Given the description of an element on the screen output the (x, y) to click on. 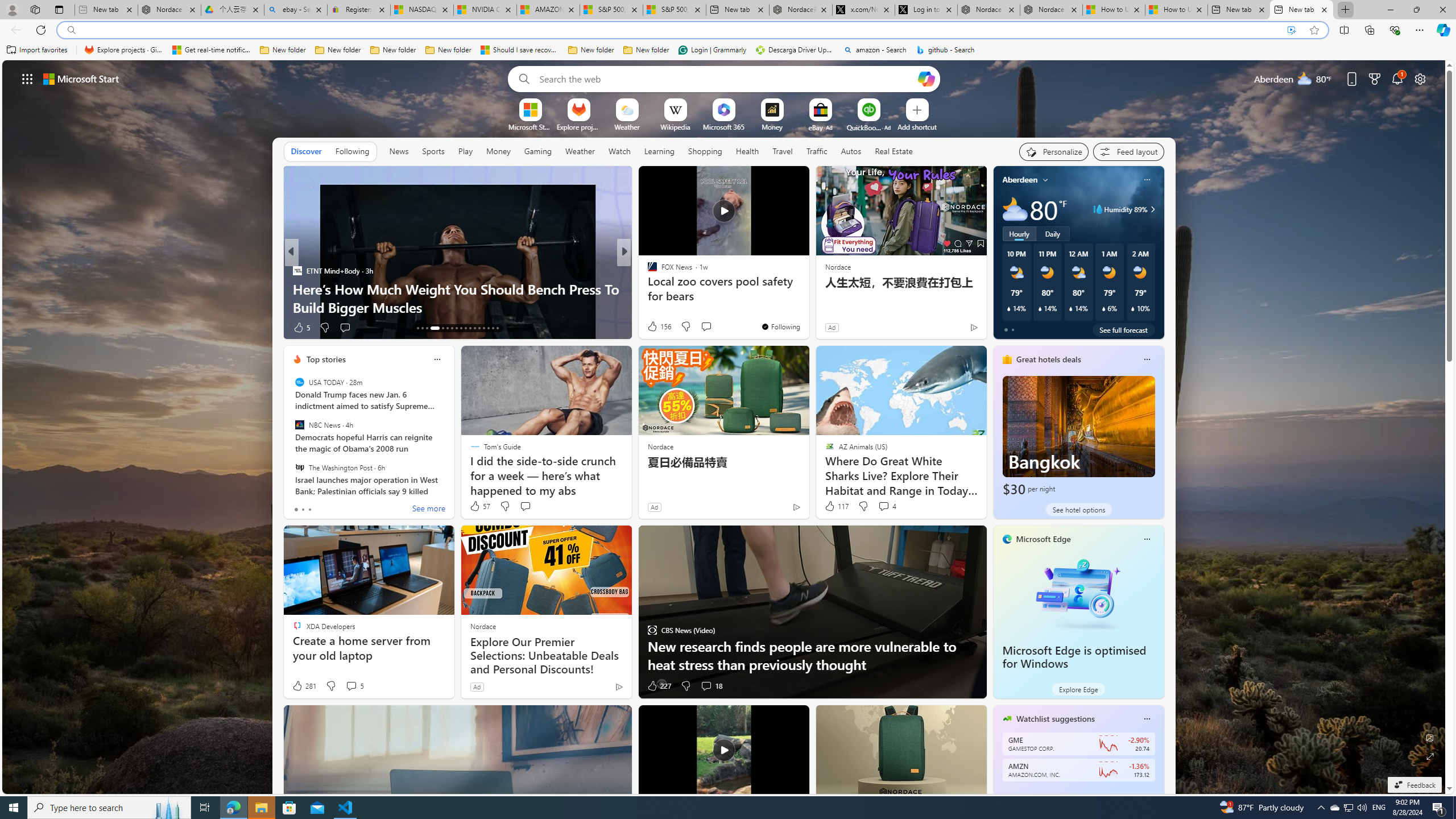
tab-2 (309, 509)
11 Like (652, 327)
Microsoft rewards (1374, 78)
tab-1 (302, 509)
AutomationID: tab-26 (483, 328)
Shopping (705, 151)
View comments 3 Comment (702, 327)
View comments 75 Comment (703, 327)
13 Like (652, 327)
ETNT Mind+Body (296, 270)
